Given the description of an element on the screen output the (x, y) to click on. 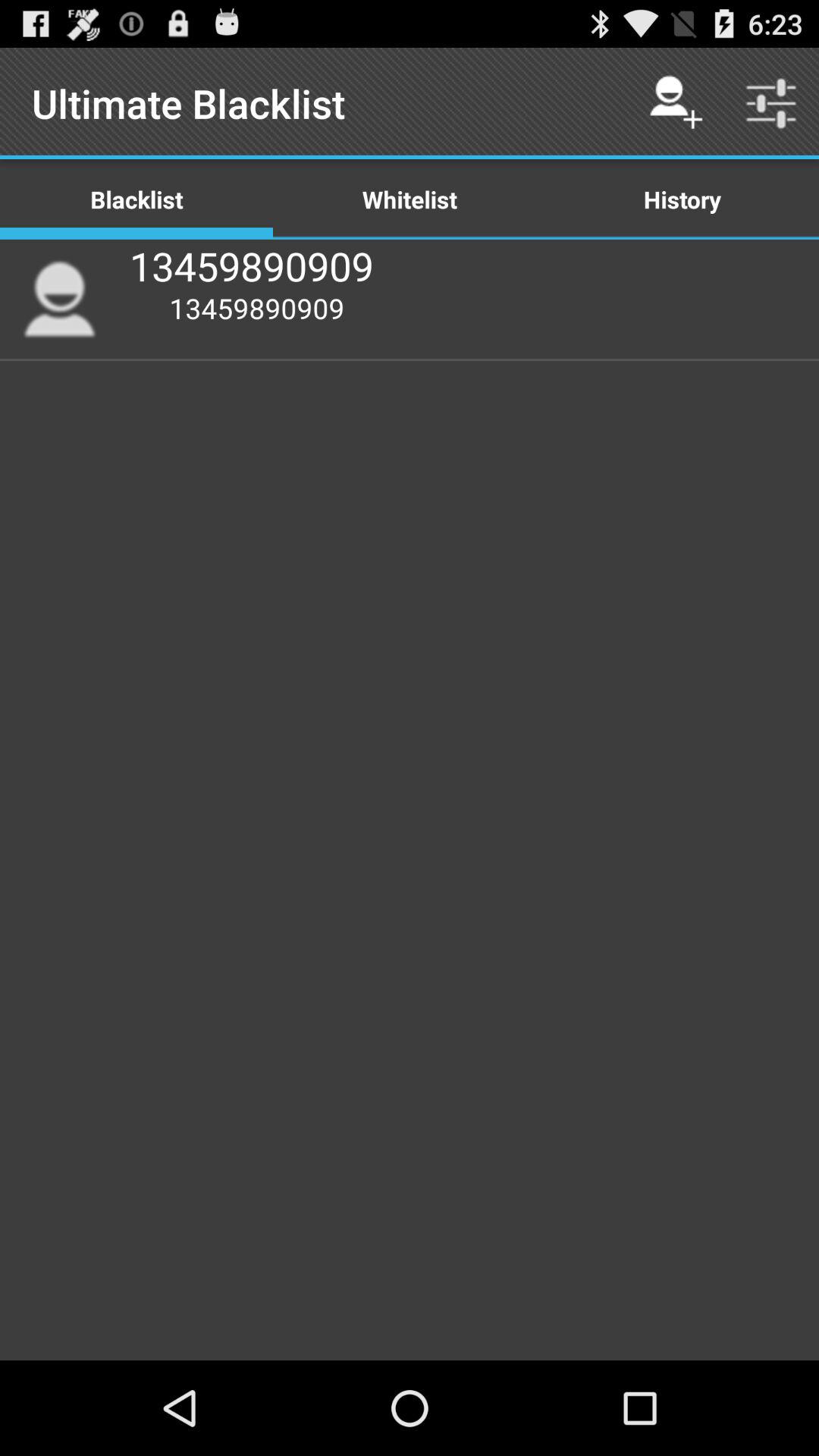
turn on the icon next to the history icon (409, 199)
